Given the description of an element on the screen output the (x, y) to click on. 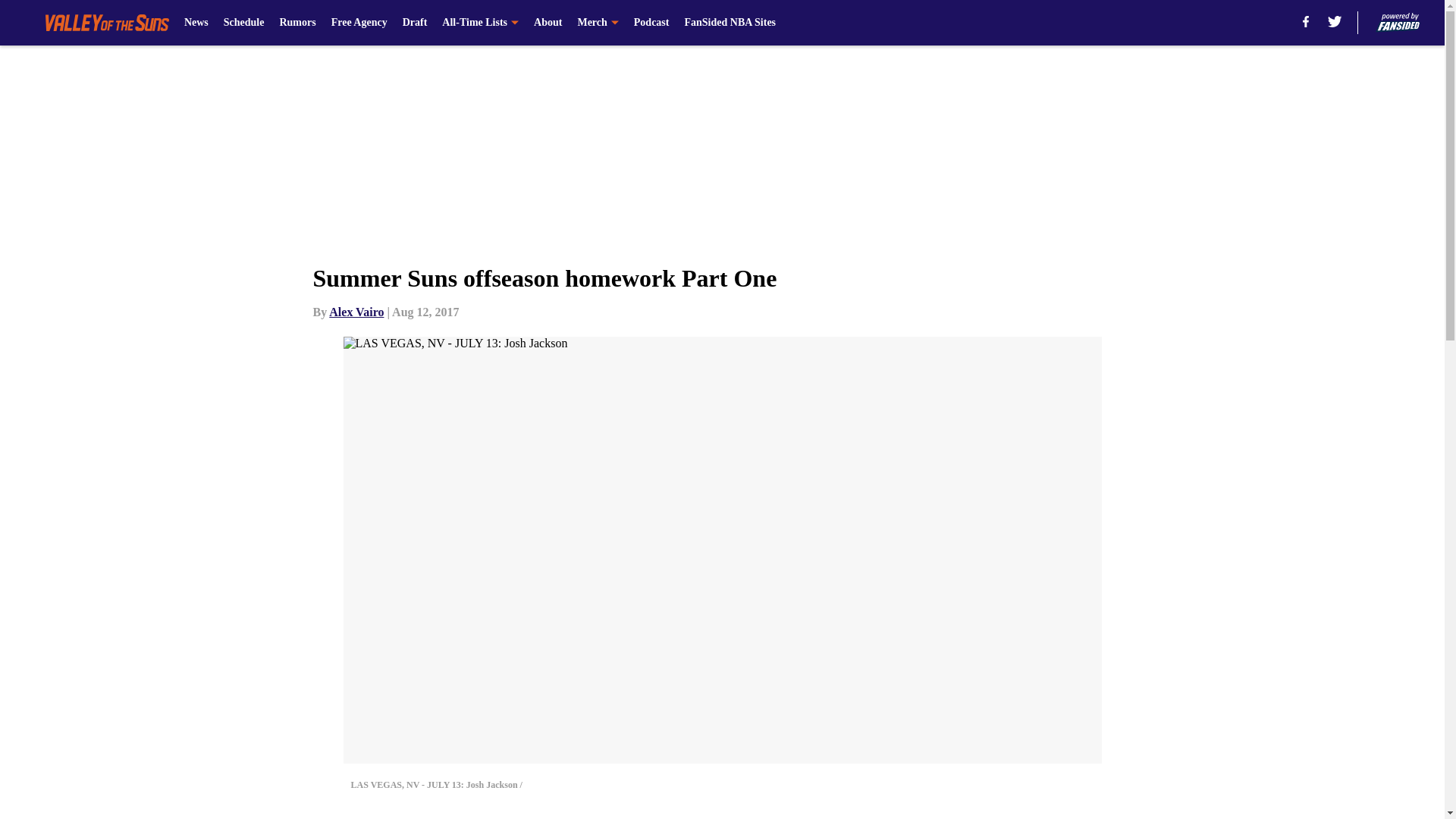
About (548, 22)
FanSided NBA Sites (730, 22)
Podcast (651, 22)
Rumors (297, 22)
Alex Vairo (356, 311)
Merch (596, 22)
Draft (415, 22)
Free Agency (359, 22)
Schedule (244, 22)
News (196, 22)
All-Time Lists (480, 22)
